Given the description of an element on the screen output the (x, y) to click on. 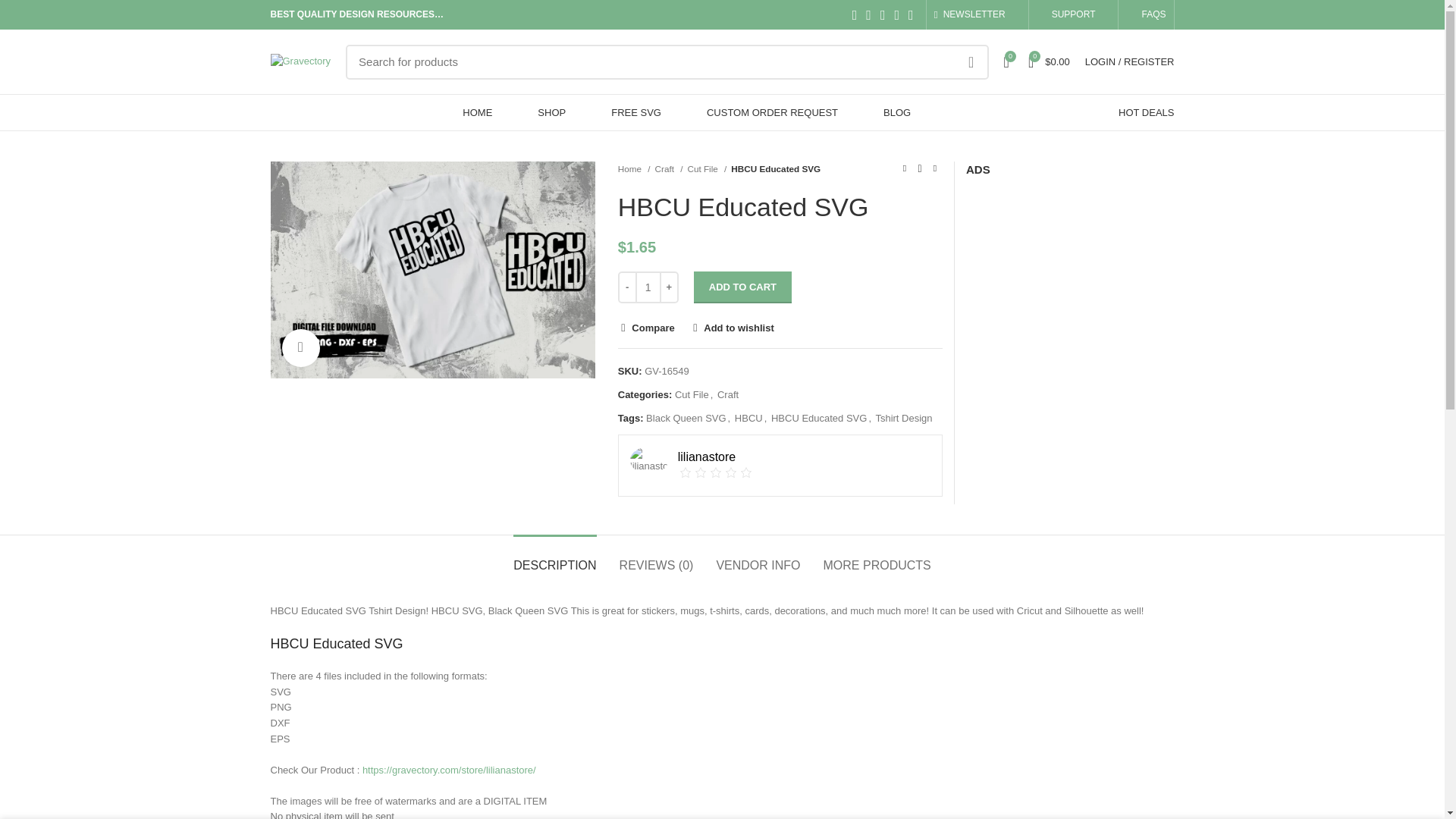
CUSTOM ORDER REQUEST (772, 112)
Shopping cart (1048, 61)
1 (648, 287)
- (627, 287)
BLOG (896, 112)
hbcu educated svg (431, 269)
My account (1129, 61)
Cut File (706, 169)
NEWSLETTER (969, 14)
ADD TO CART (743, 287)
My Wishlist (1005, 61)
SHOP (551, 112)
HOT DEALS (1146, 112)
Home (633, 169)
SUPPORT (1073, 14)
